Given the description of an element on the screen output the (x, y) to click on. 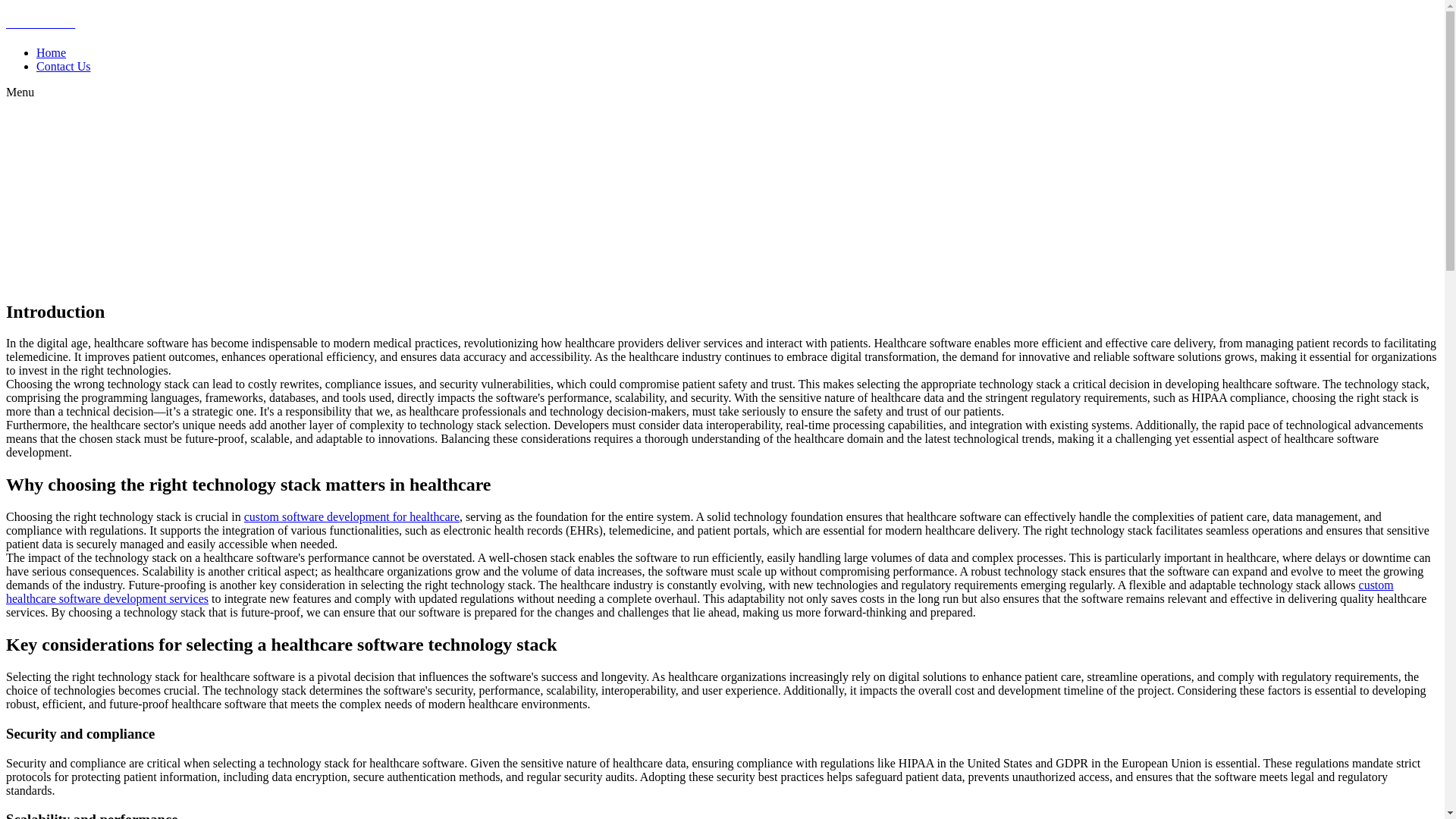
custom software development for healthcare (352, 516)
custom healthcare software development services (699, 591)
Menu (19, 91)
Contact Us (63, 65)
Home (50, 51)
